Given the description of an element on the screen output the (x, y) to click on. 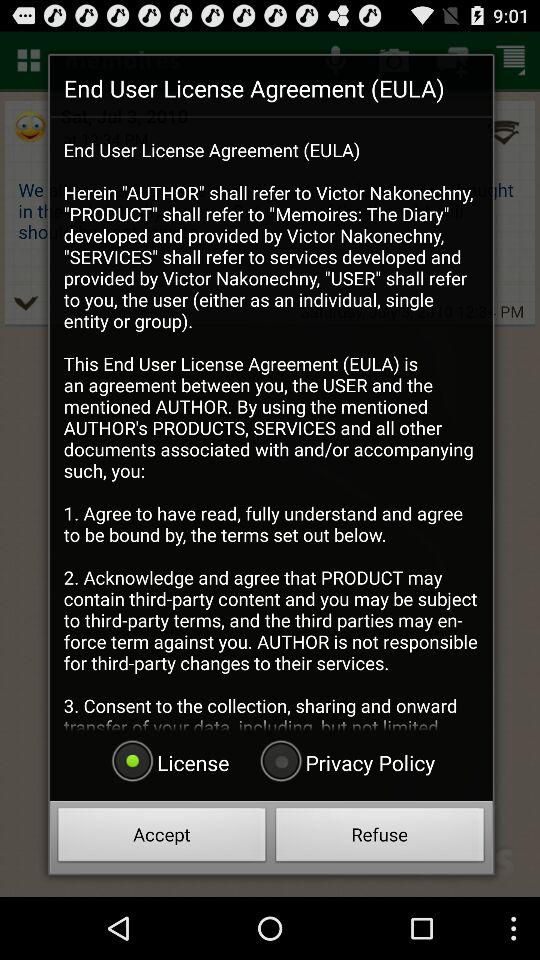
select privacy policy icon (345, 762)
